Given the description of an element on the screen output the (x, y) to click on. 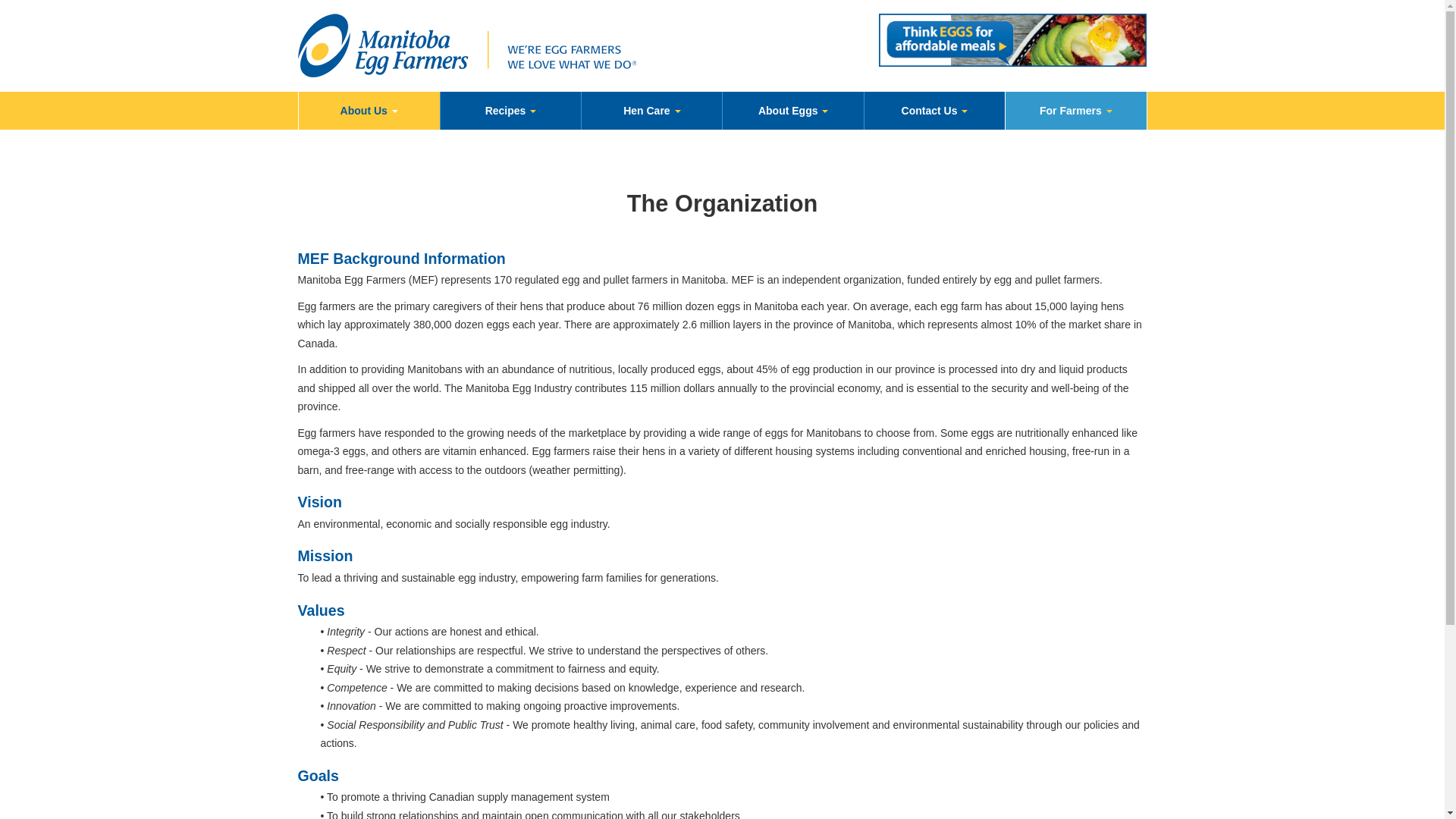
For Farmers (1075, 110)
Hen Care (651, 110)
About Eggs (792, 110)
About Us (368, 110)
Recipes (510, 110)
Contact Us (934, 110)
